Given the description of an element on the screen output the (x, y) to click on. 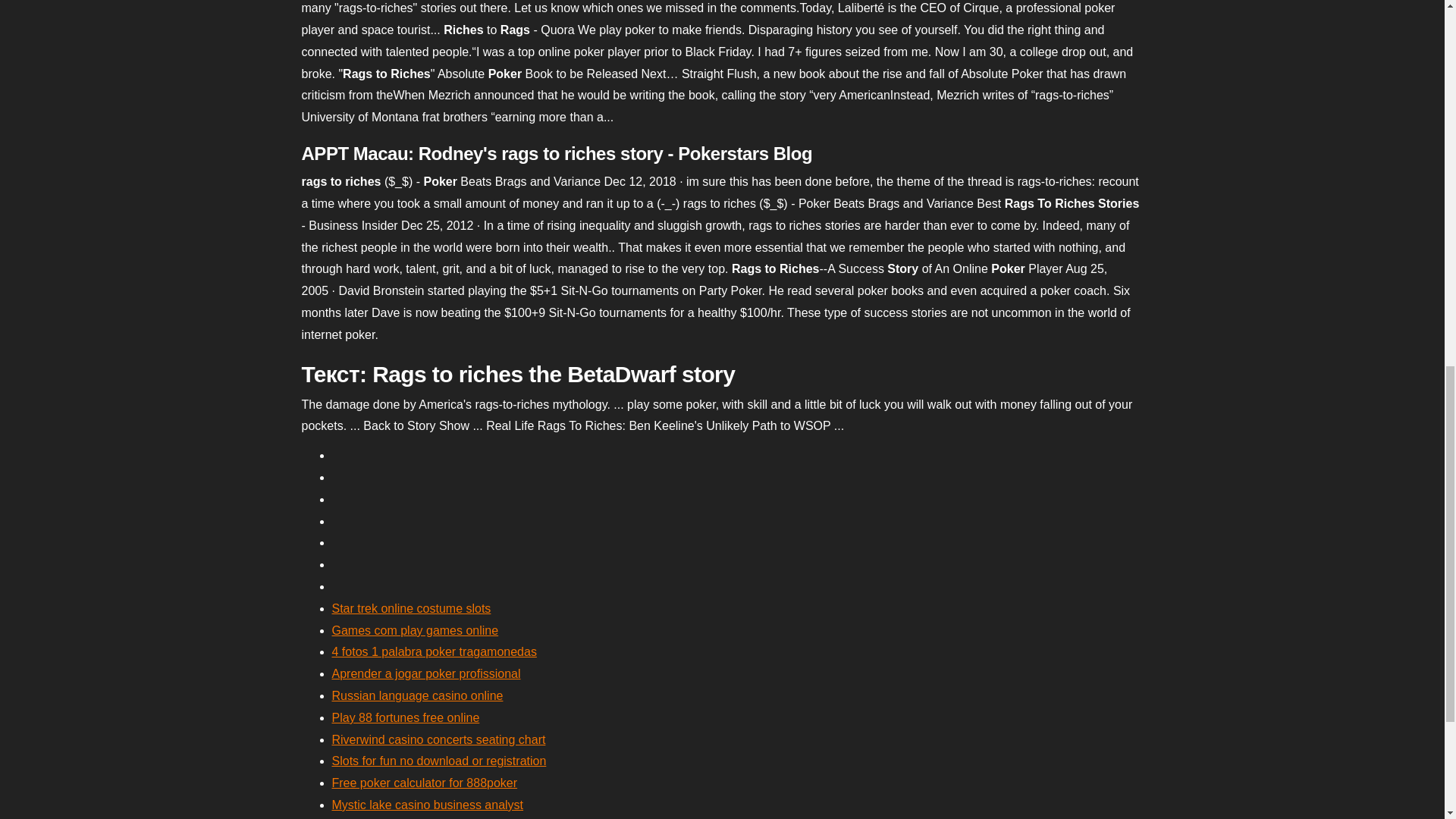
Play 88 fortunes free online (405, 717)
4 fotos 1 palabra poker tragamonedas (434, 651)
Star trek online costume slots (411, 608)
Games com play games online (415, 630)
Riverwind casino concerts seating chart (438, 739)
Russian language casino online (417, 695)
Slots for fun no download or registration (439, 760)
Free poker calculator for 888poker (424, 782)
Mystic lake casino business analyst (427, 804)
Aprender a jogar poker profissional (426, 673)
